Given the description of an element on the screen output the (x, y) to click on. 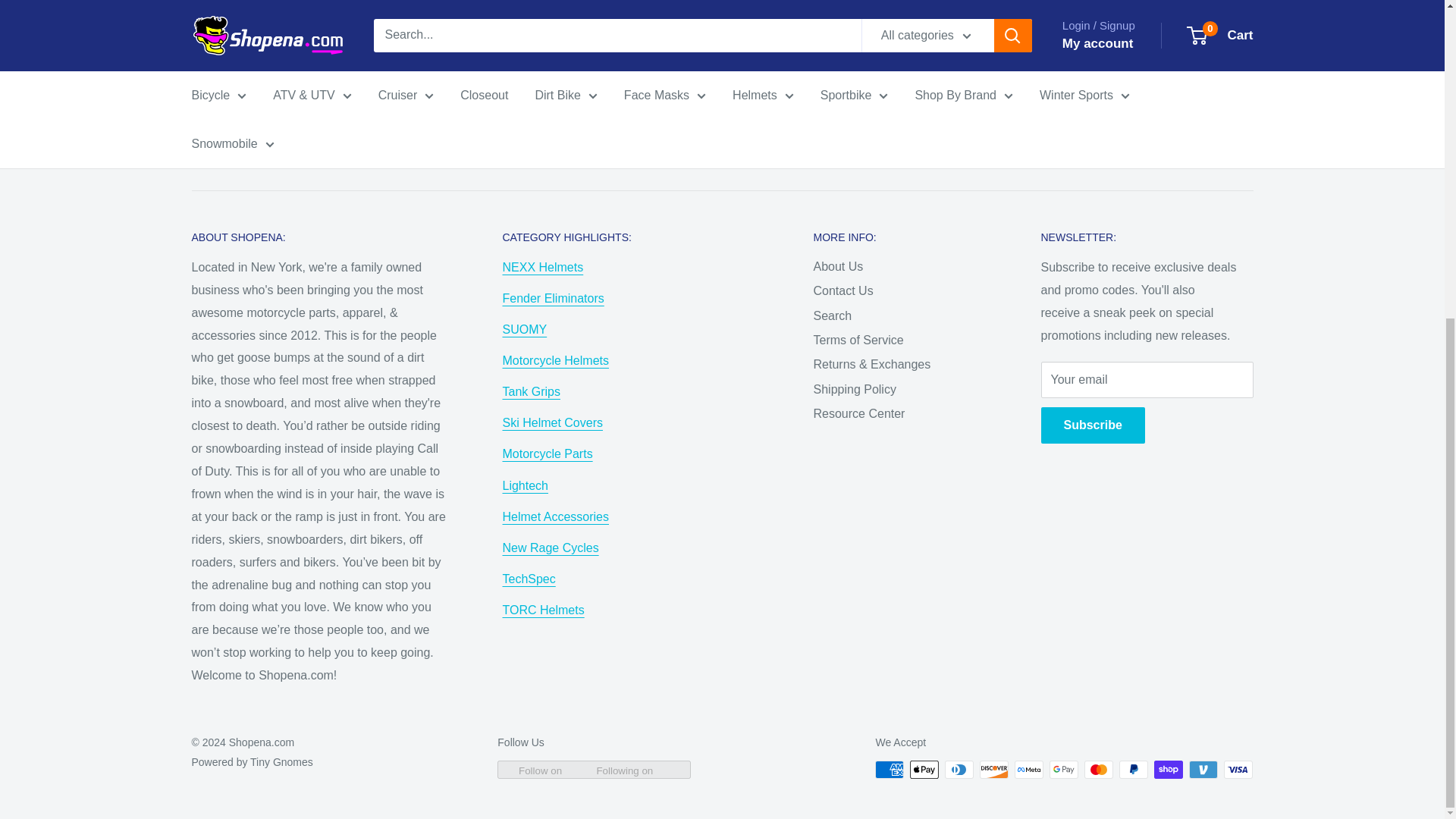
Sportbike Parts (547, 453)
NEXX (542, 267)
Motorcycle Tank Grips (530, 391)
Helmets (555, 359)
TechSpec (528, 578)
Torc (542, 609)
Suomy (524, 328)
New Rage Cycles (550, 547)
Ski Helmet Covers (552, 422)
Lightech (525, 484)
Helmet Accessories (555, 516)
Motorcycle Fender Eliminators (553, 297)
